Given the description of an element on the screen output the (x, y) to click on. 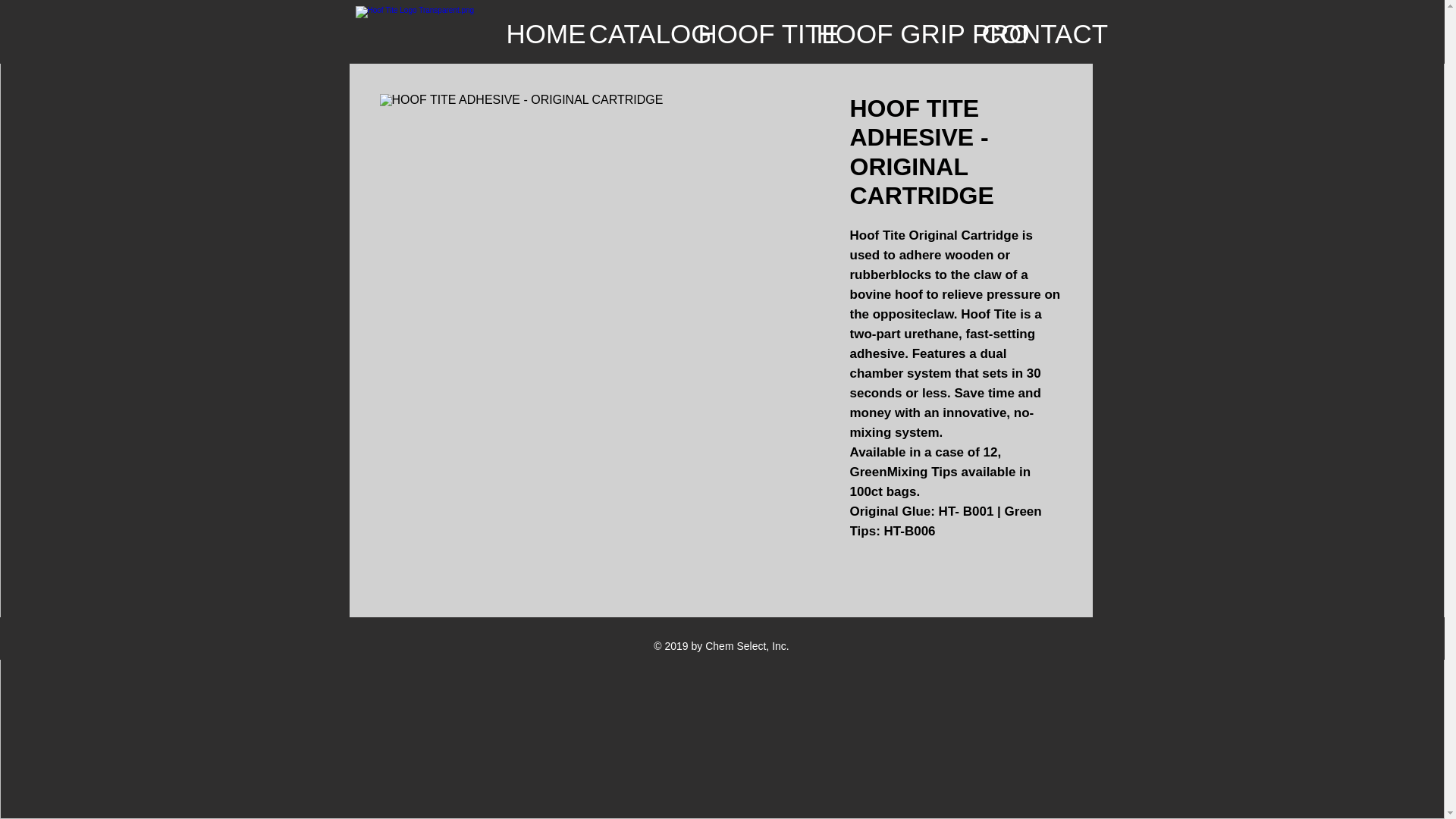
HOOF TITE (746, 32)
CONTACT (1027, 32)
HOOF GRIP PRO (888, 32)
HOME (535, 32)
CATALOG (632, 32)
